Given the description of an element on the screen output the (x, y) to click on. 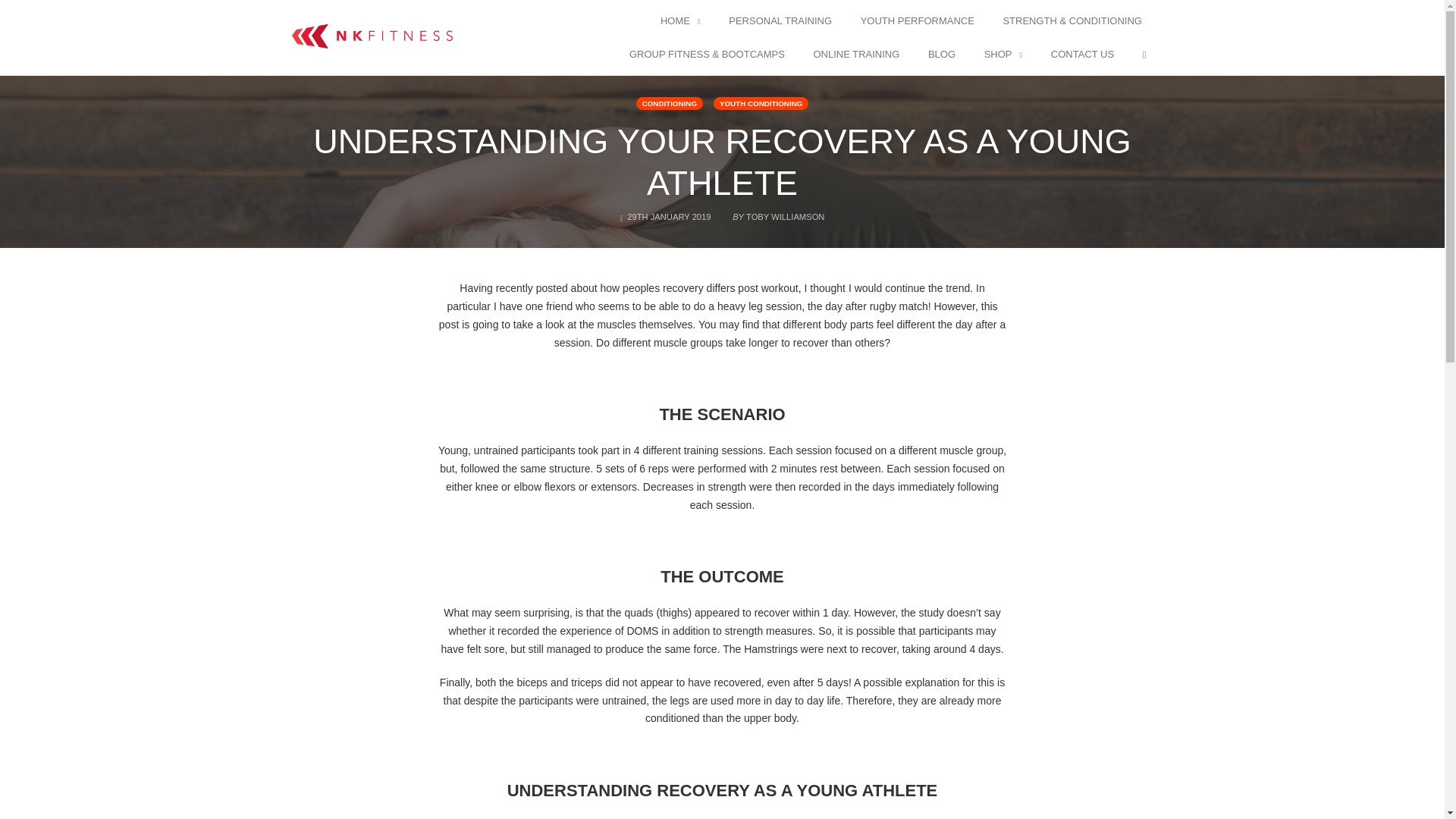
PERSONAL TRAINING (780, 20)
UNDERSTANDING YOUR RECOVERY AS A YOUNG ATHLETE (722, 162)
HOME (680, 20)
CONDITIONING (669, 103)
SHOP (1002, 54)
YOUTH CONDITIONING (760, 103)
OPEN SEARCH FORM (1144, 54)
ONLINE TRAINING (856, 54)
CONTACT US (1082, 54)
YOUTH PERFORMANCE (916, 20)
